Given the description of an element on the screen output the (x, y) to click on. 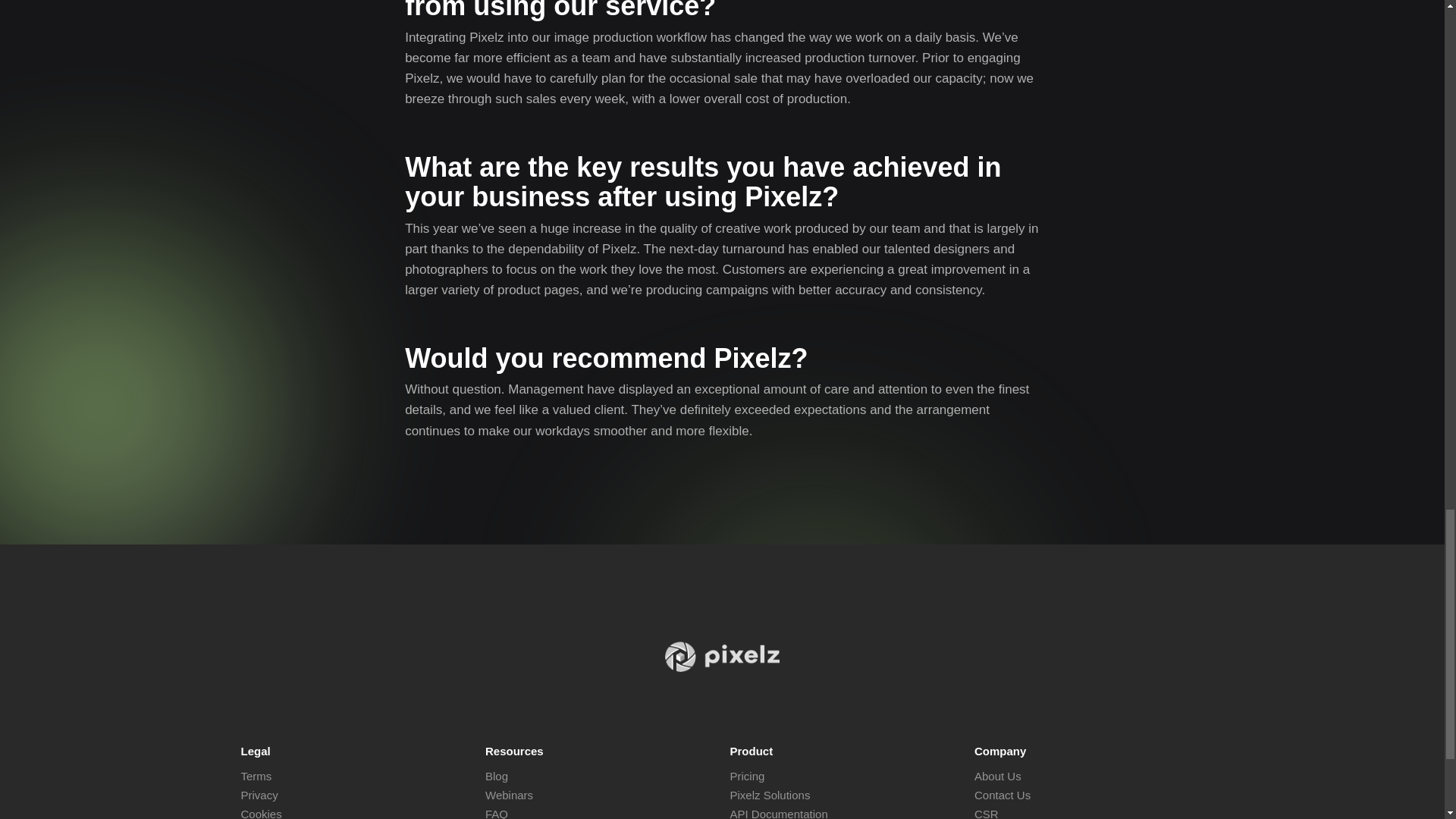
Cookies (261, 813)
Terms (256, 775)
Blog (496, 775)
Privacy (259, 794)
